Given the description of an element on the screen output the (x, y) to click on. 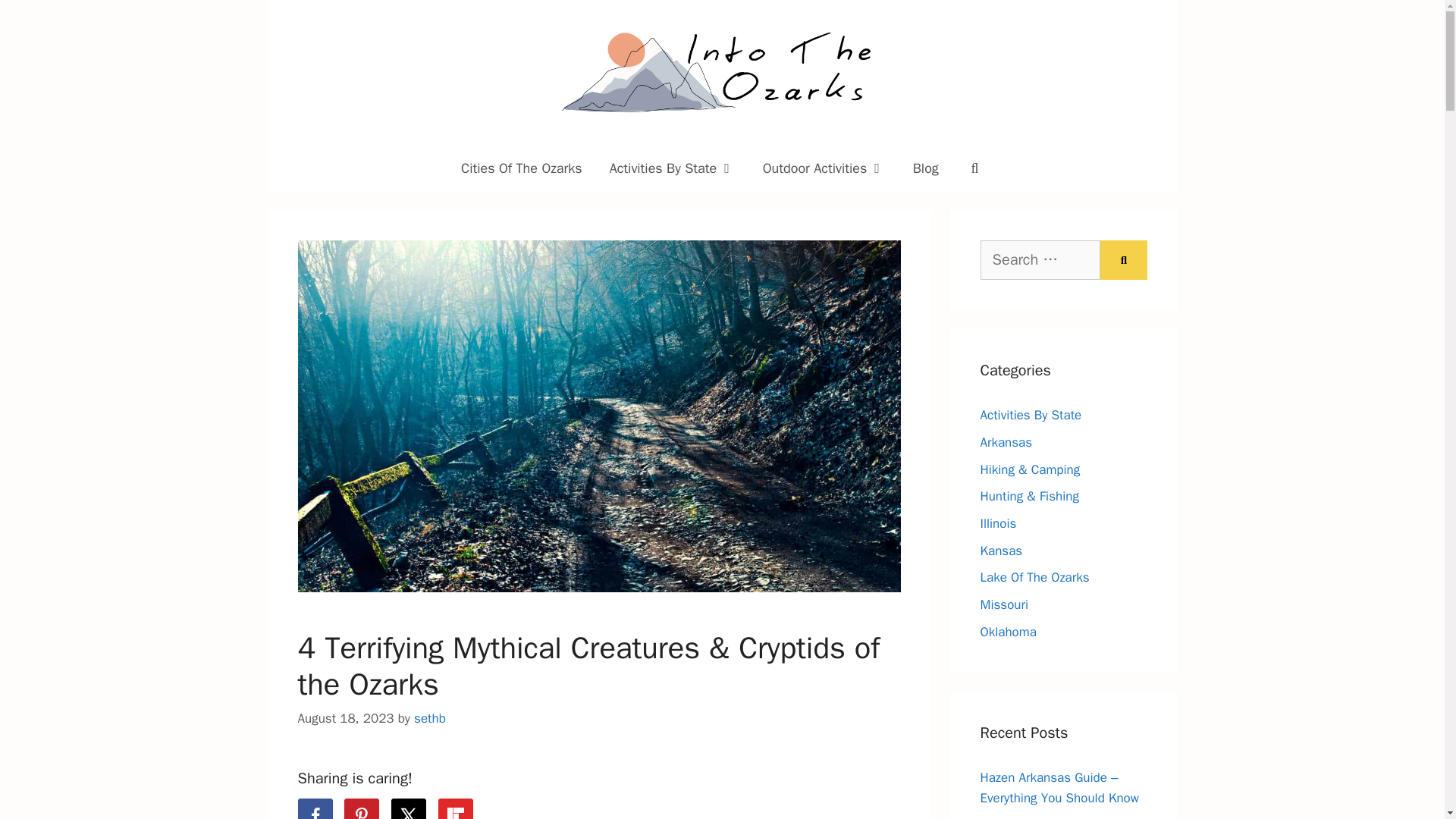
sethb (429, 718)
Activities By State (672, 167)
View all posts by sethb (429, 718)
Share on Facebook (314, 808)
Cities Of The Ozarks (520, 167)
Blog (925, 167)
Save to Pinterest (360, 808)
Share on X (408, 808)
Share on Flipboard (455, 808)
Outdoor Activities (824, 167)
